Given the description of an element on the screen output the (x, y) to click on. 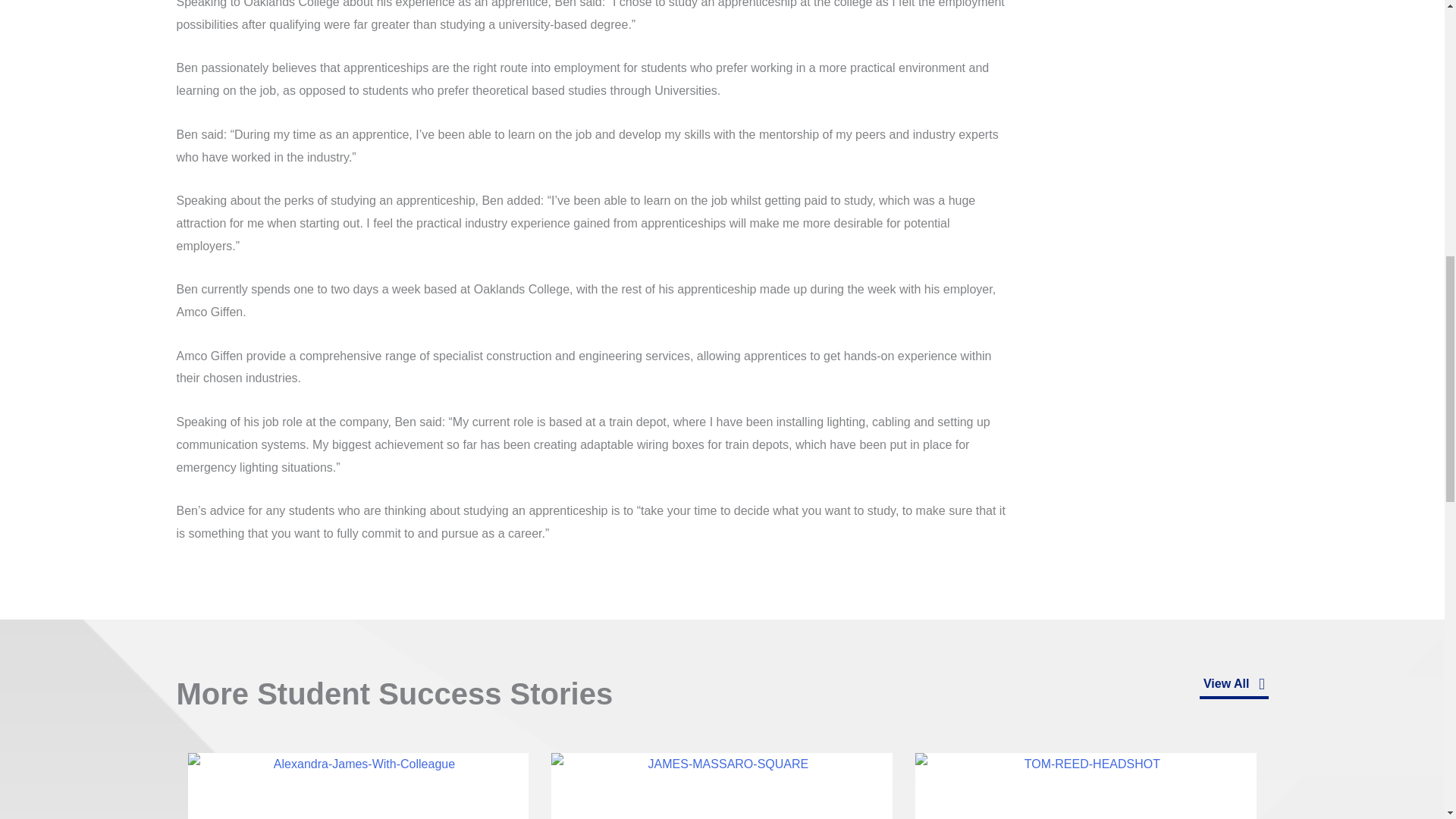
Click Here (1233, 685)
